Given the description of an element on the screen output the (x, y) to click on. 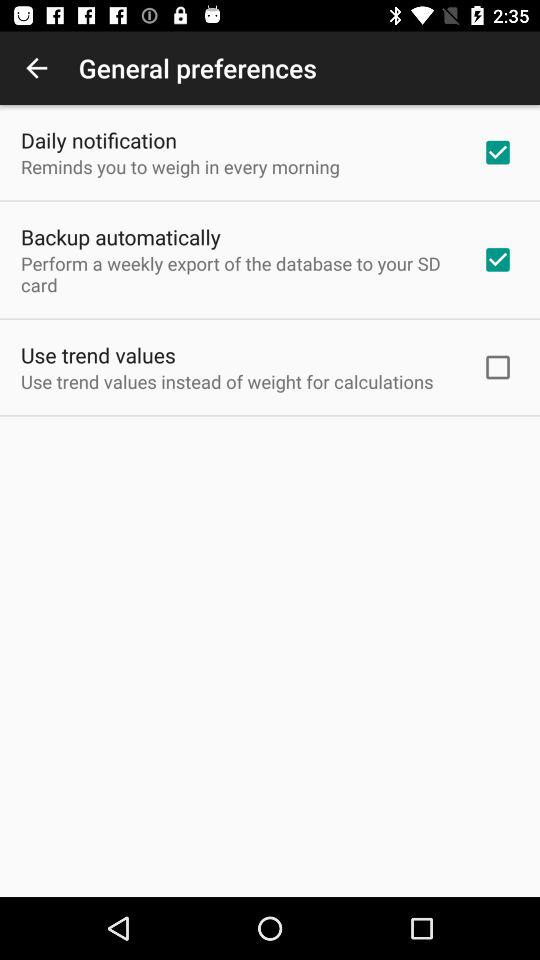
press the item above the reminds you to app (98, 139)
